Given the description of an element on the screen output the (x, y) to click on. 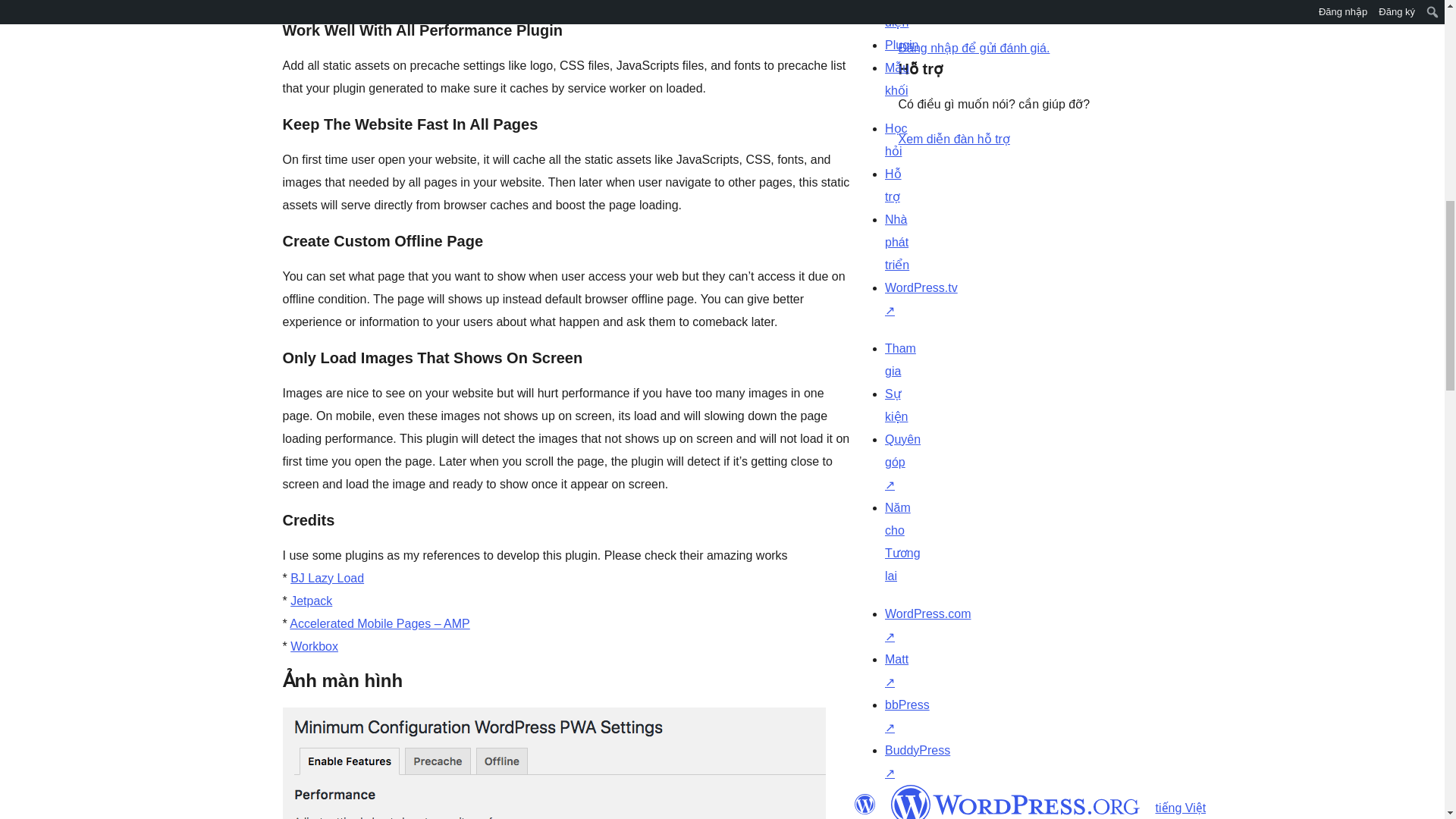
WordPress.org (1014, 801)
WordPress.org (864, 803)
